Given the description of an element on the screen output the (x, y) to click on. 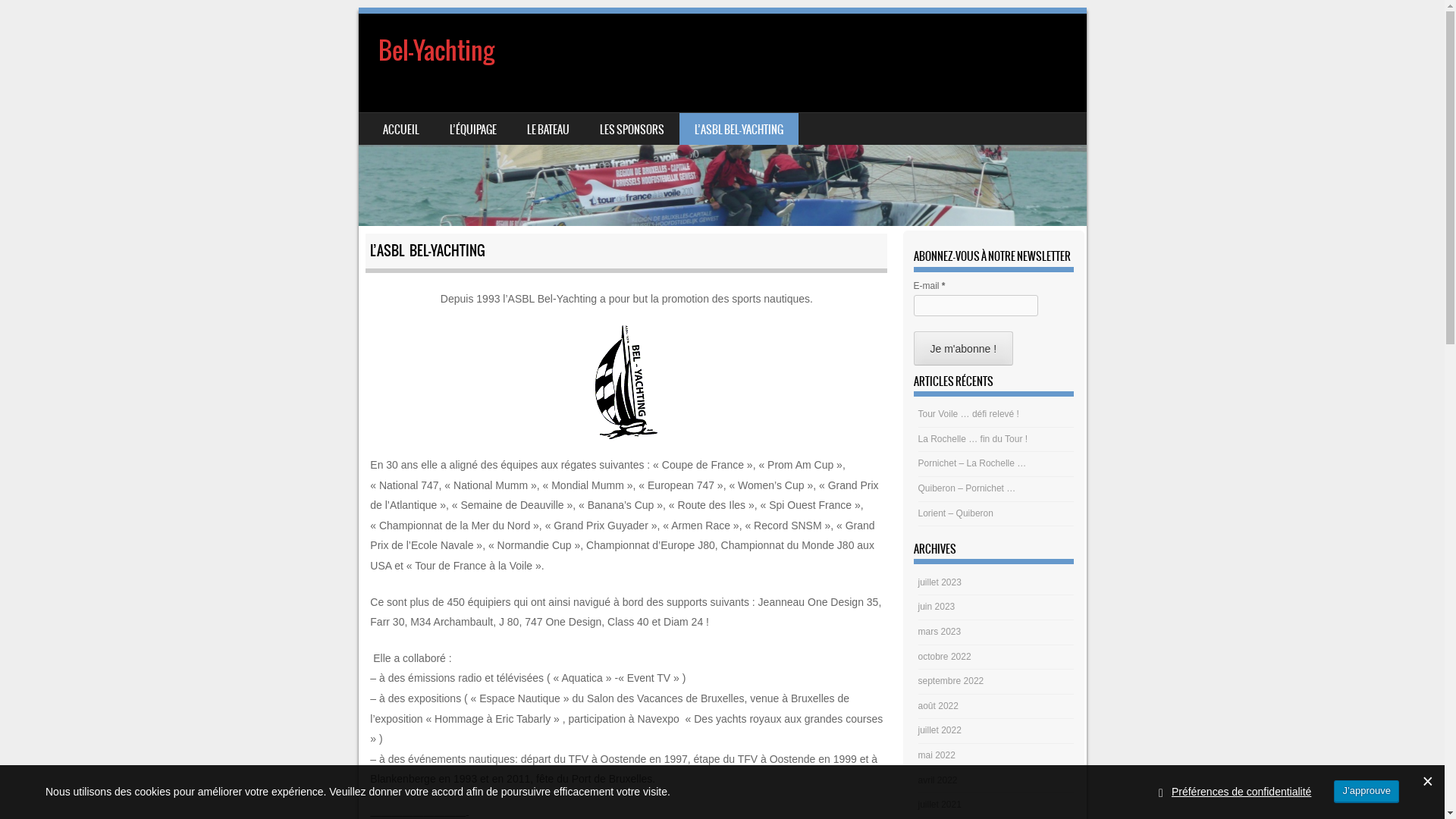
LE BATEAU Element type: text (547, 128)
juin 2023 Element type: text (936, 606)
Bel-Yachting Element type: hover (721, 119)
SKIP TO CONTENT Element type: text (393, 122)
mars 2023 Element type: text (939, 631)
E-mail Element type: hover (975, 305)
Search Element type: text (33, 17)
ACCUEIL Element type: text (400, 128)
LES SPONSORS Element type: text (630, 128)
octobre 2022 Element type: text (944, 656)
avril 2022 Element type: text (937, 780)
septembre 2022 Element type: text (951, 680)
mai 2022 Element type: text (936, 754)
Bel-Yachting Element type: text (435, 50)
juillet 2021 Element type: text (939, 804)
juillet 2023 Element type: text (939, 582)
Je m'abonne ! Element type: text (963, 348)
juillet 2022 Element type: text (939, 729)
